Given the description of an element on the screen output the (x, y) to click on. 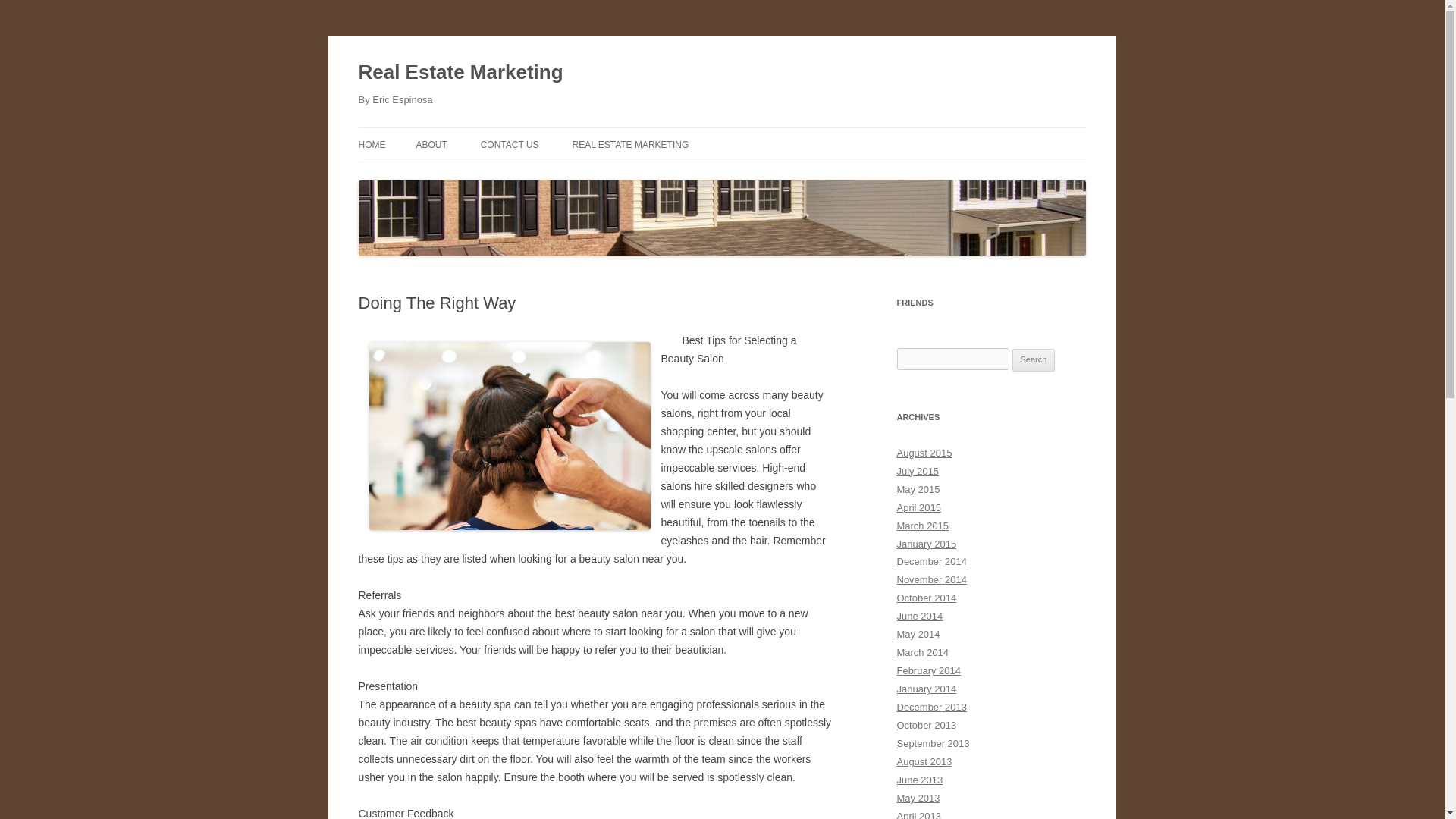
July 2015 (917, 471)
January 2014 (926, 688)
June 2014 (919, 615)
January 2015 (926, 543)
November 2014 (931, 579)
Skip to content (757, 132)
March 2015 (922, 525)
June 2013 (919, 779)
August 2015 (924, 452)
December 2014 (931, 561)
Real Estate Marketing (460, 72)
May 2015 (917, 489)
Real Estate Marketing (460, 72)
ABOUT (430, 144)
September 2013 (932, 743)
